Given the description of an element on the screen output the (x, y) to click on. 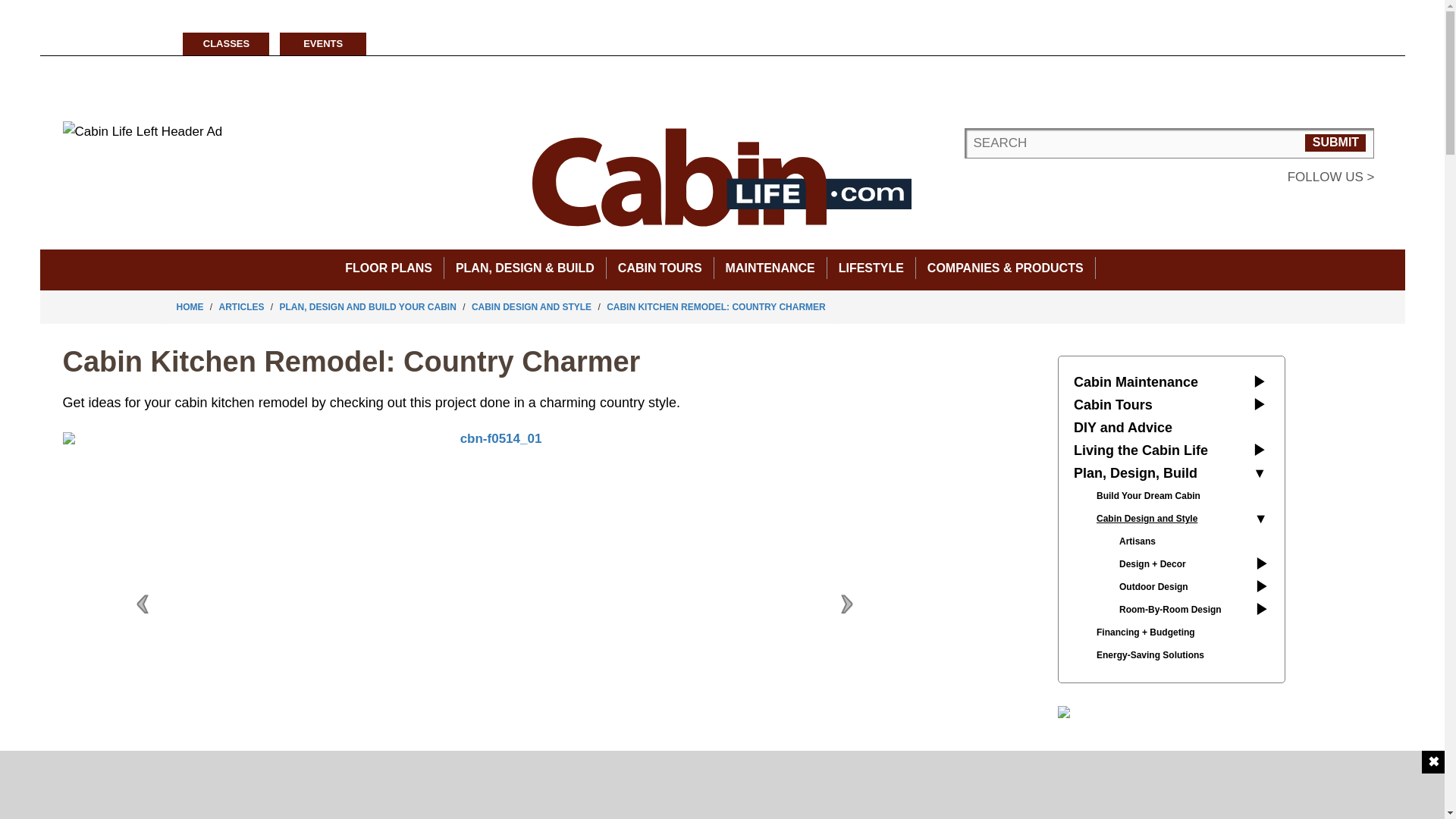
MAINTENANCE (770, 267)
PLAN, DESIGN AND BUILD YOUR CABIN (368, 307)
Submit (1334, 142)
EVENTS (322, 43)
ARTICLES (240, 307)
CABIN KITCHEN REMODEL: COUNTRY CHARMER (716, 307)
CABIN TOURS (660, 267)
Accessibility Settings (11, 11)
HOME (189, 307)
FLOOR PLANS (387, 267)
CLASSES (226, 43)
Submit (1334, 142)
CABIN DESIGN AND STYLE (531, 307)
Cabin Life Left Header Ad (142, 131)
LIFESTYLE (870, 267)
